Given the description of an element on the screen output the (x, y) to click on. 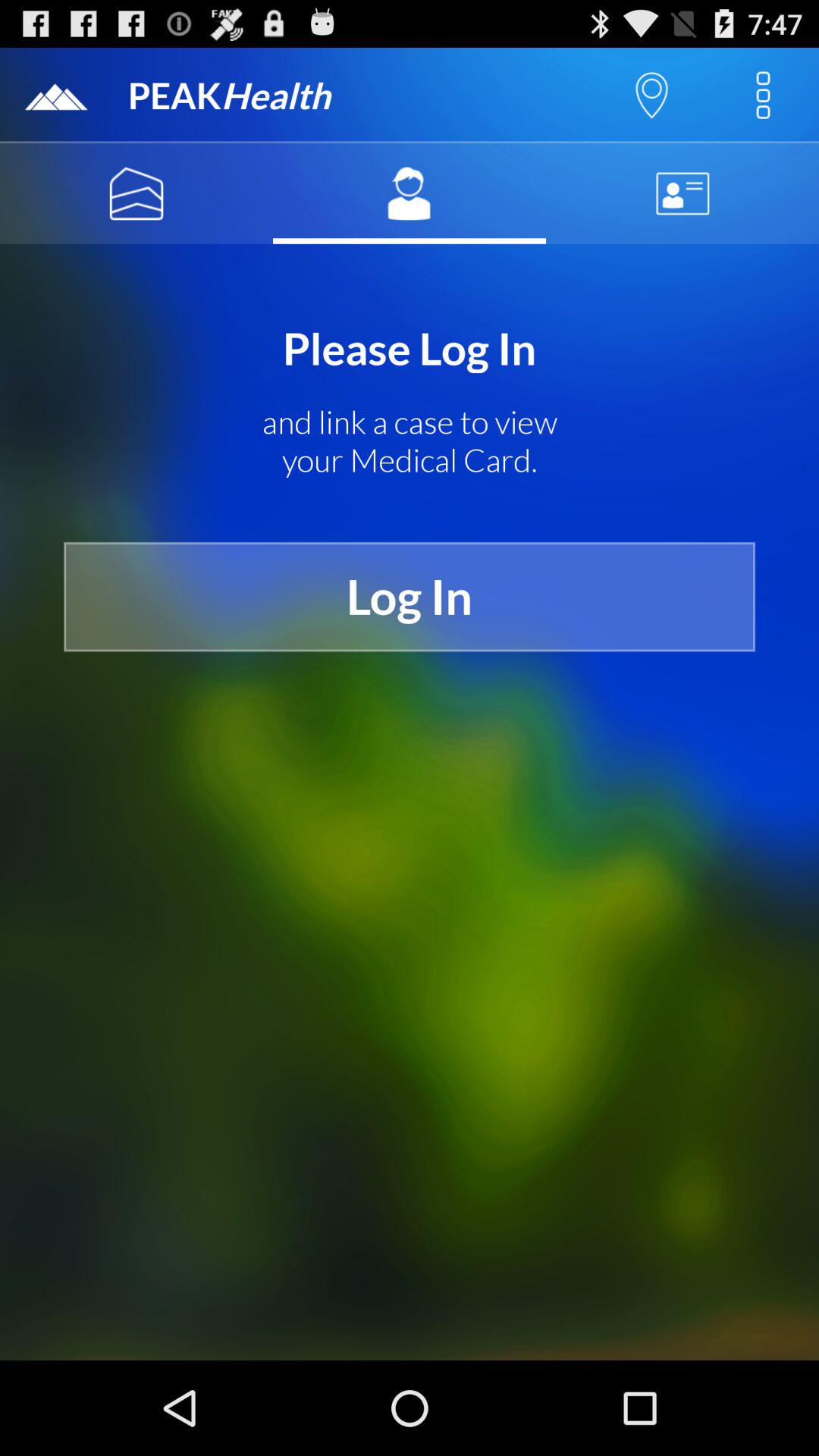
my account (409, 193)
